Given the description of an element on the screen output the (x, y) to click on. 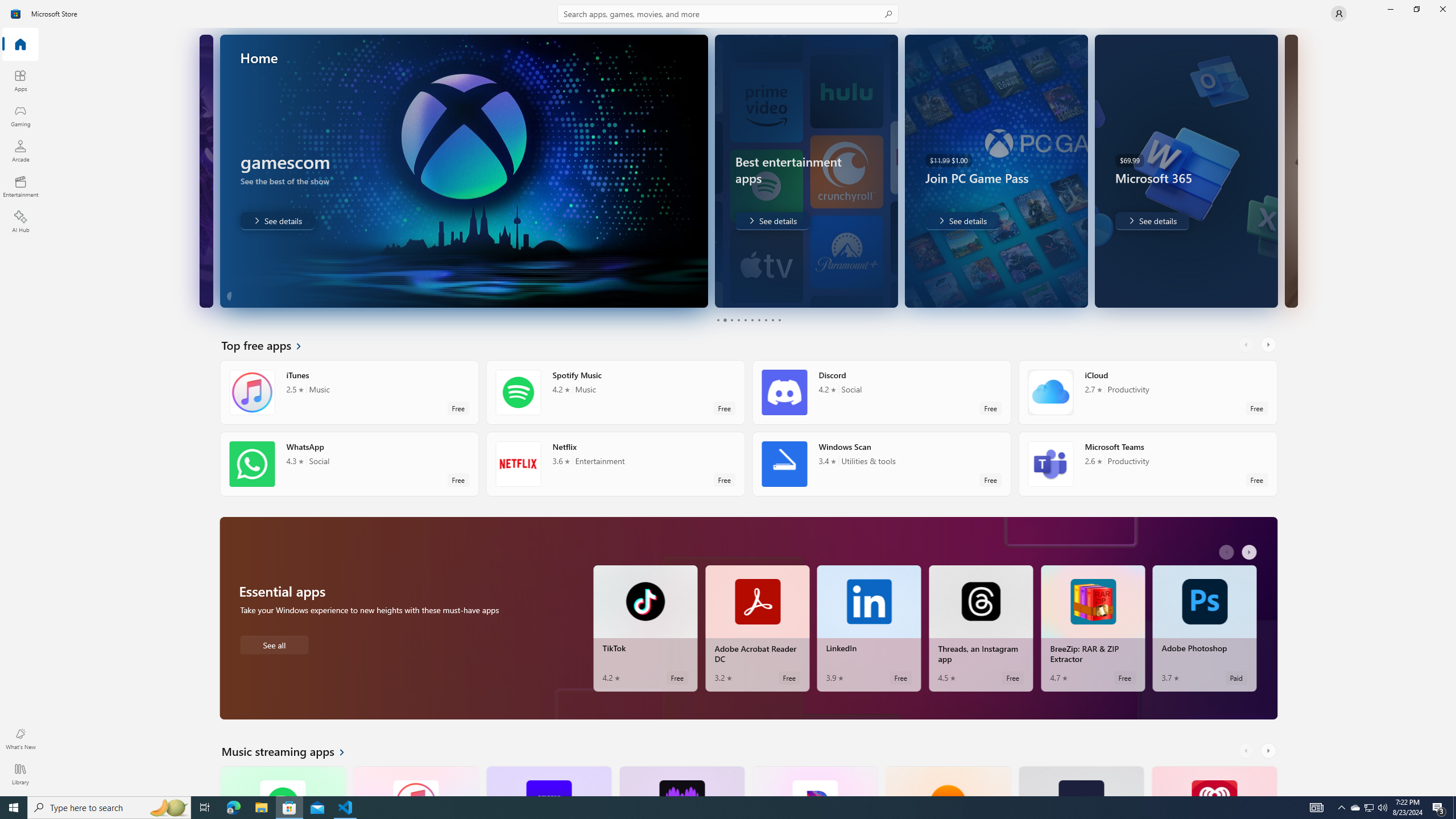
Arcade (20, 150)
AutomationID: NavigationControl (728, 398)
AutomationID: Image (1290, 170)
Pager (748, 319)
iCloud. Average rating of 2.7 out of five stars. Free   (1146, 392)
TikTok. Average rating of 4.2 out of five stars. Free   (644, 628)
Class: Image (15, 13)
Page 6 (751, 319)
See all  Top free apps (268, 345)
